Given the description of an element on the screen output the (x, y) to click on. 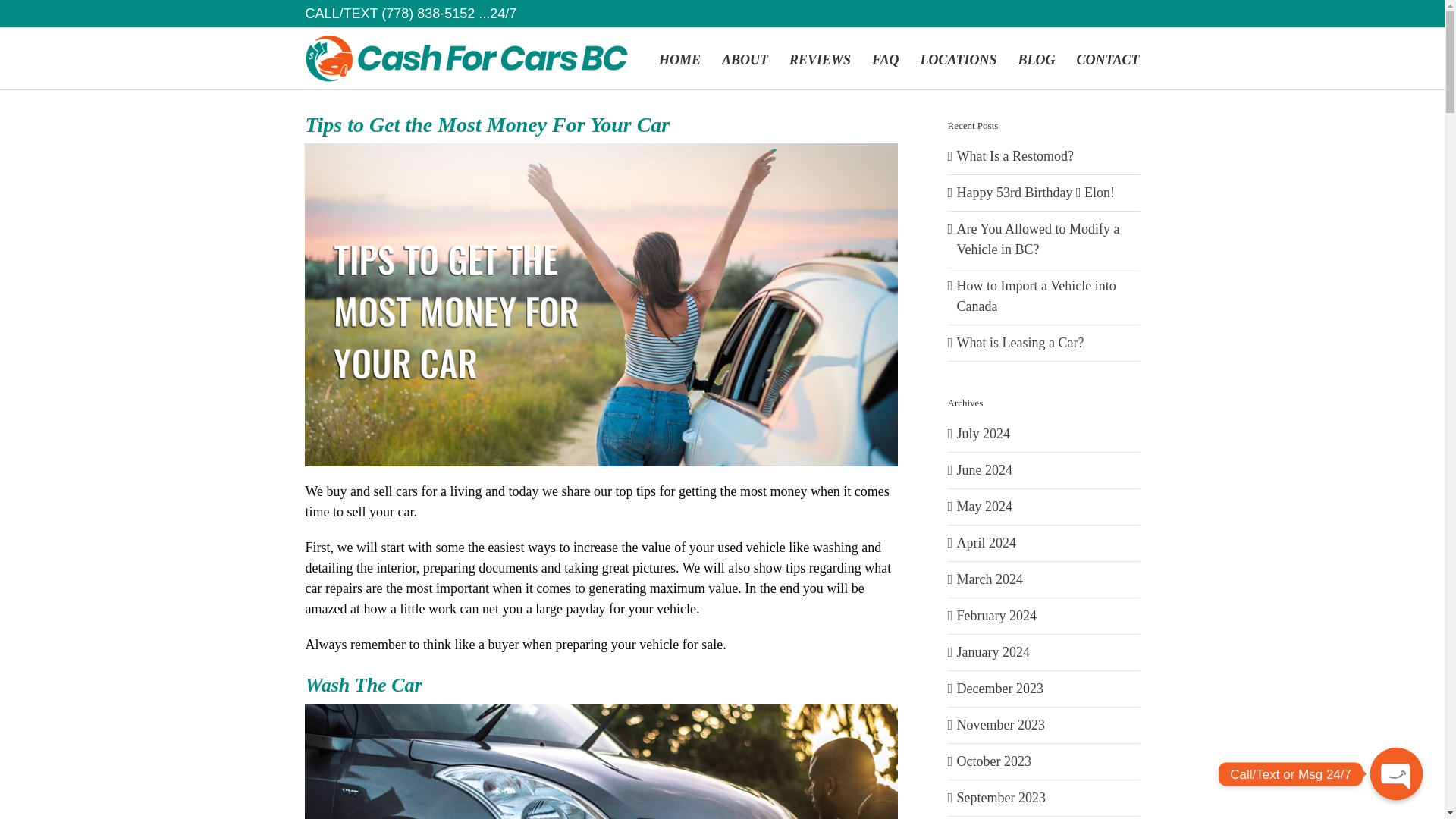
REVIEWS (819, 58)
LOCATIONS (957, 58)
